Given the description of an element on the screen output the (x, y) to click on. 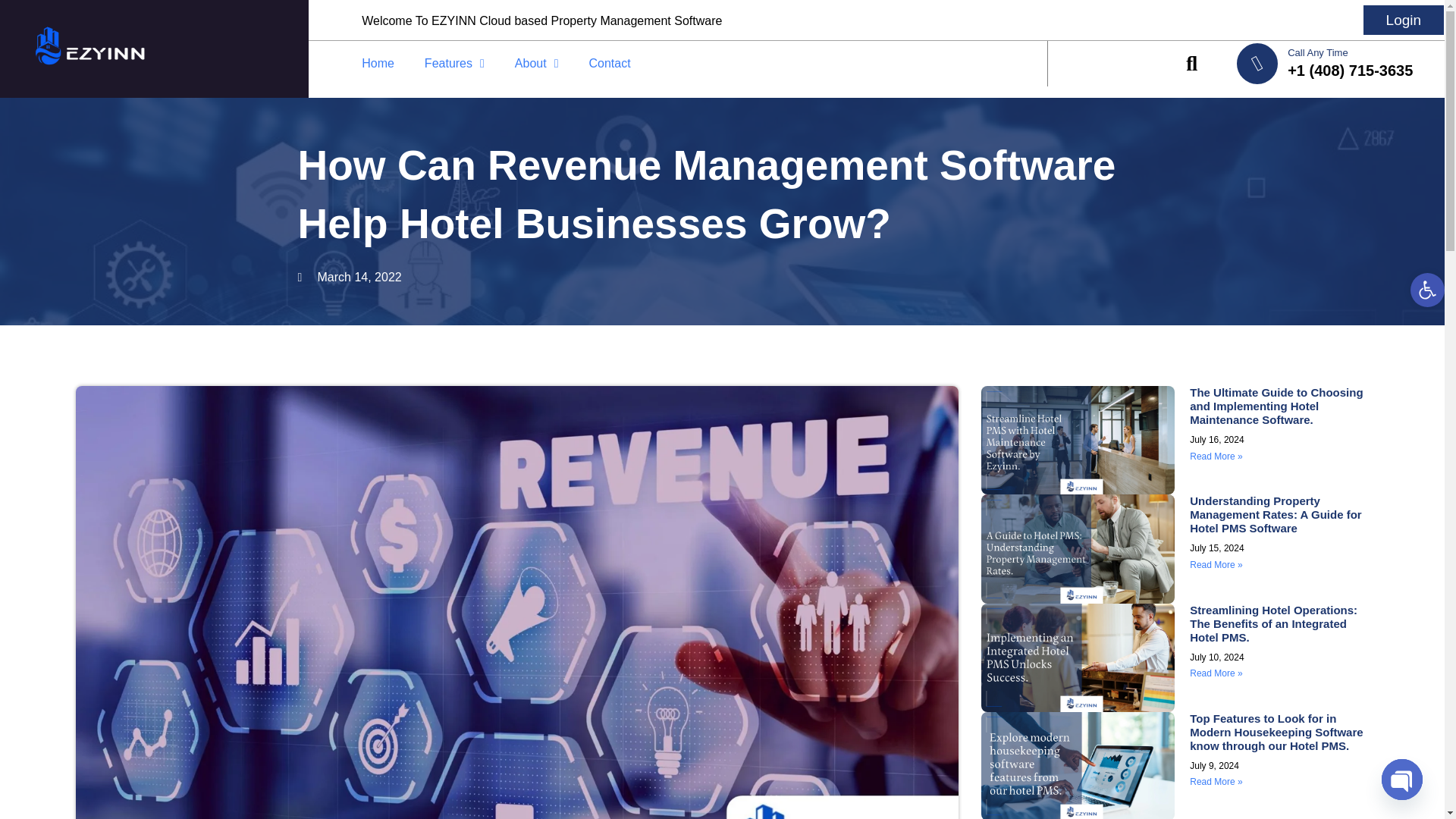
Call Any Time (1317, 52)
Features (454, 63)
Contact (609, 63)
Home (377, 63)
About (536, 63)
Accessibility Tools (1427, 289)
